Given the description of an element on the screen output the (x, y) to click on. 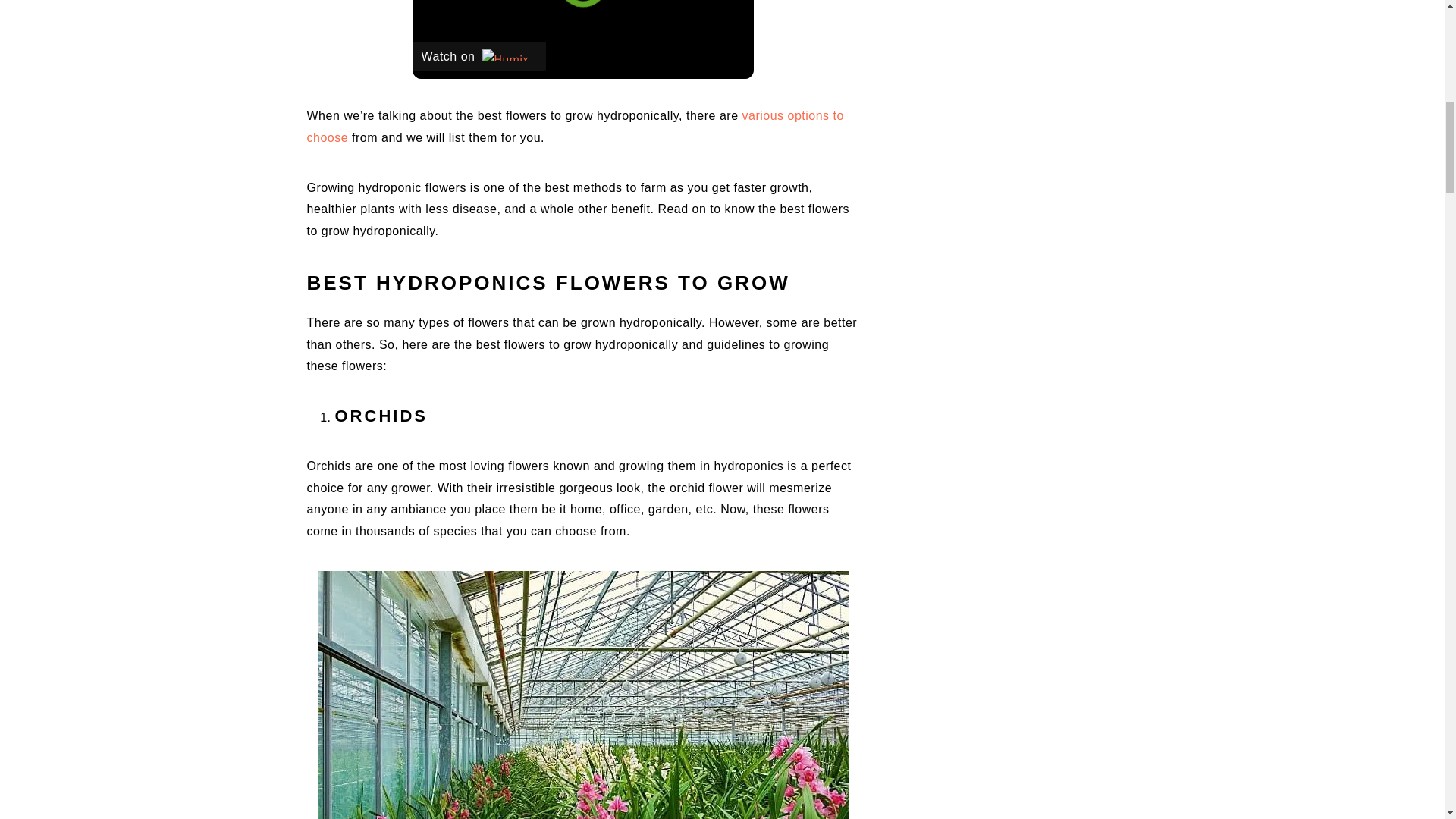
various options to choose (574, 126)
Watch on (479, 55)
